Given the description of an element on the screen output the (x, y) to click on. 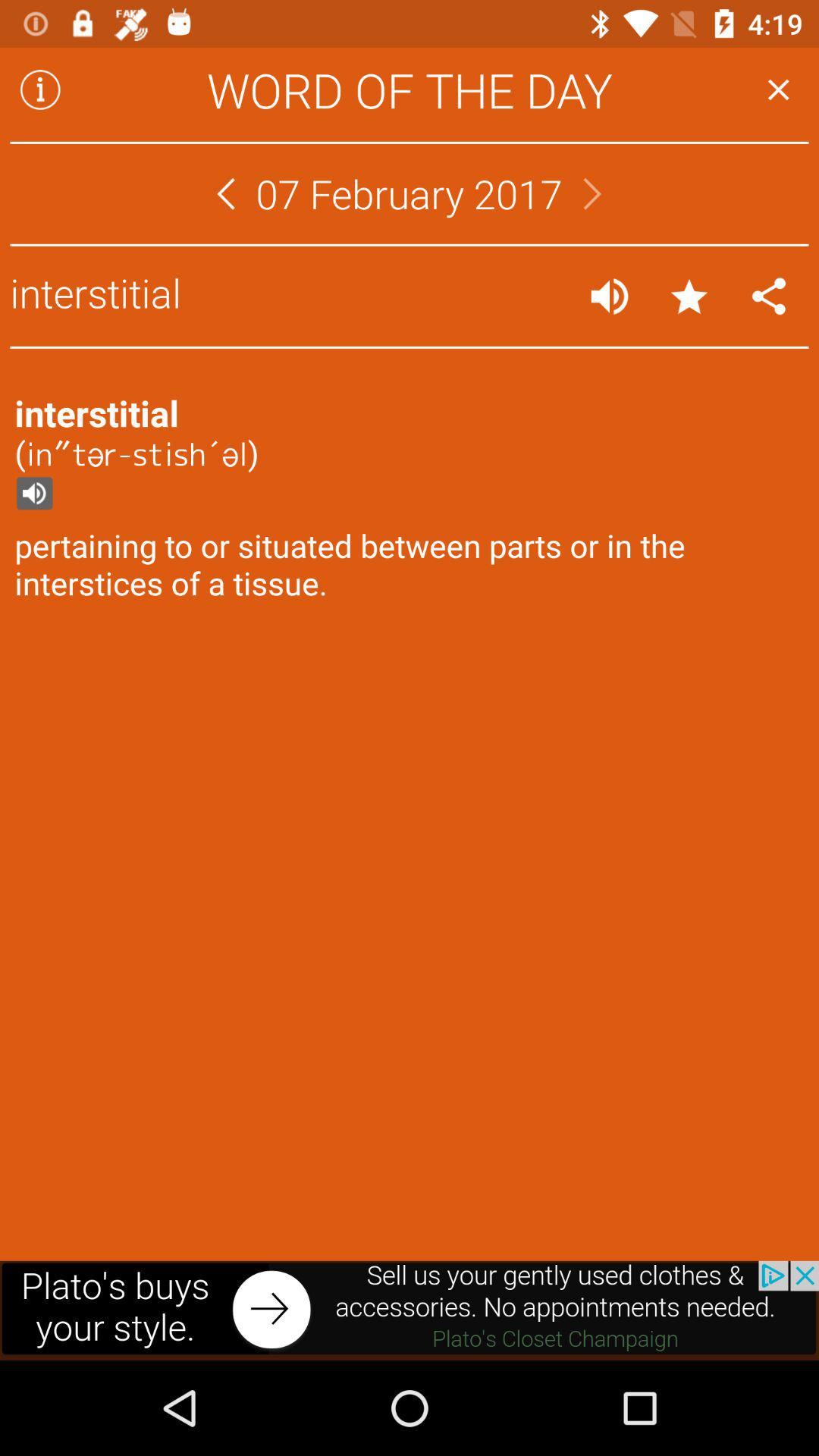
open options (768, 296)
